Given the description of an element on the screen output the (x, y) to click on. 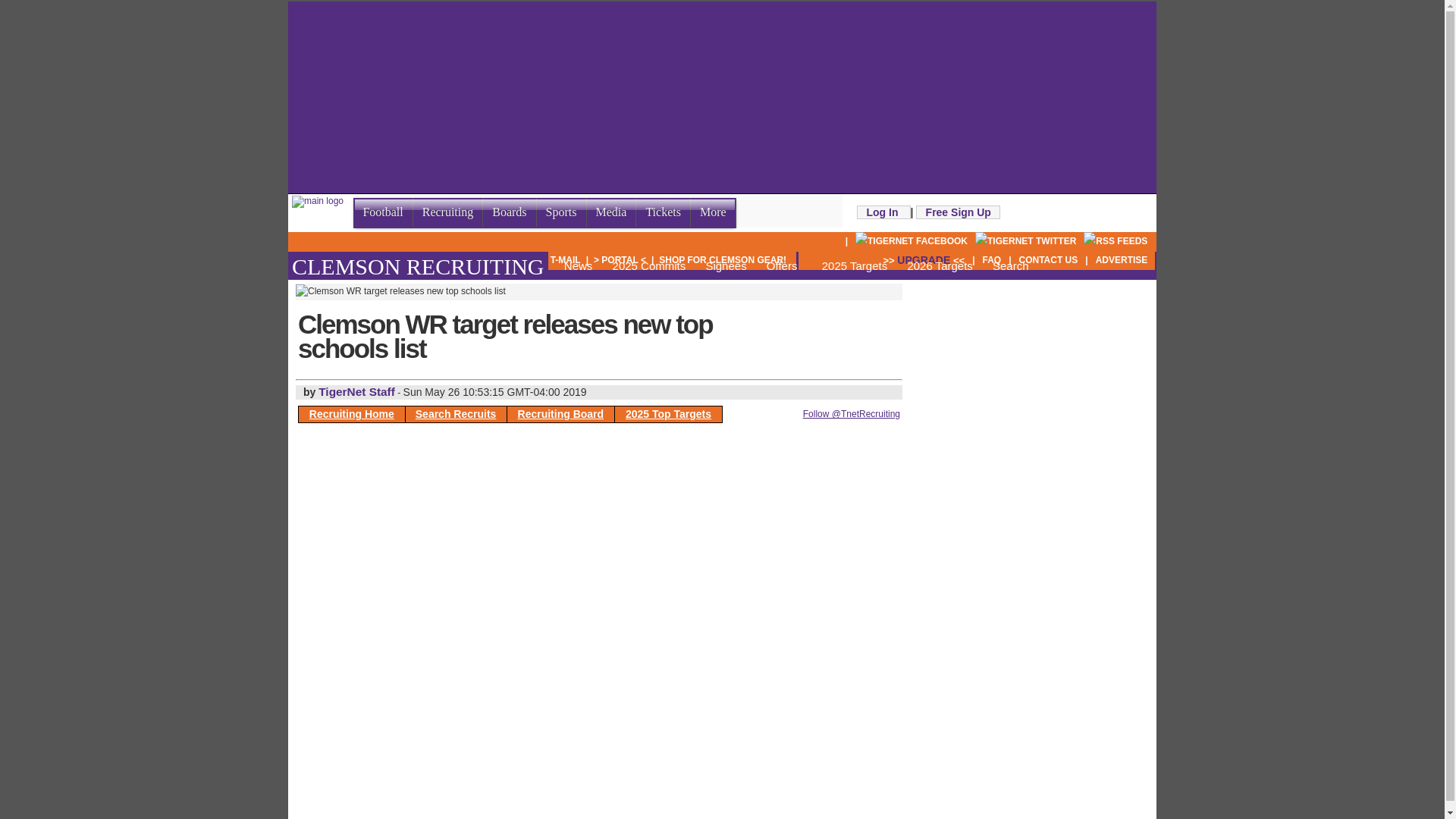
Contact us (1048, 259)
Search TigerNet Members (496, 259)
Advertise (1122, 259)
Frequently Asked Questions (991, 259)
Clemson Gear on Sale (722, 259)
TigerBoards (330, 259)
RSS feeds (1115, 240)
Upgrade to Premium! (923, 259)
T-Mail (565, 259)
TigerNet Twitter (1025, 240)
